Given the description of an element on the screen output the (x, y) to click on. 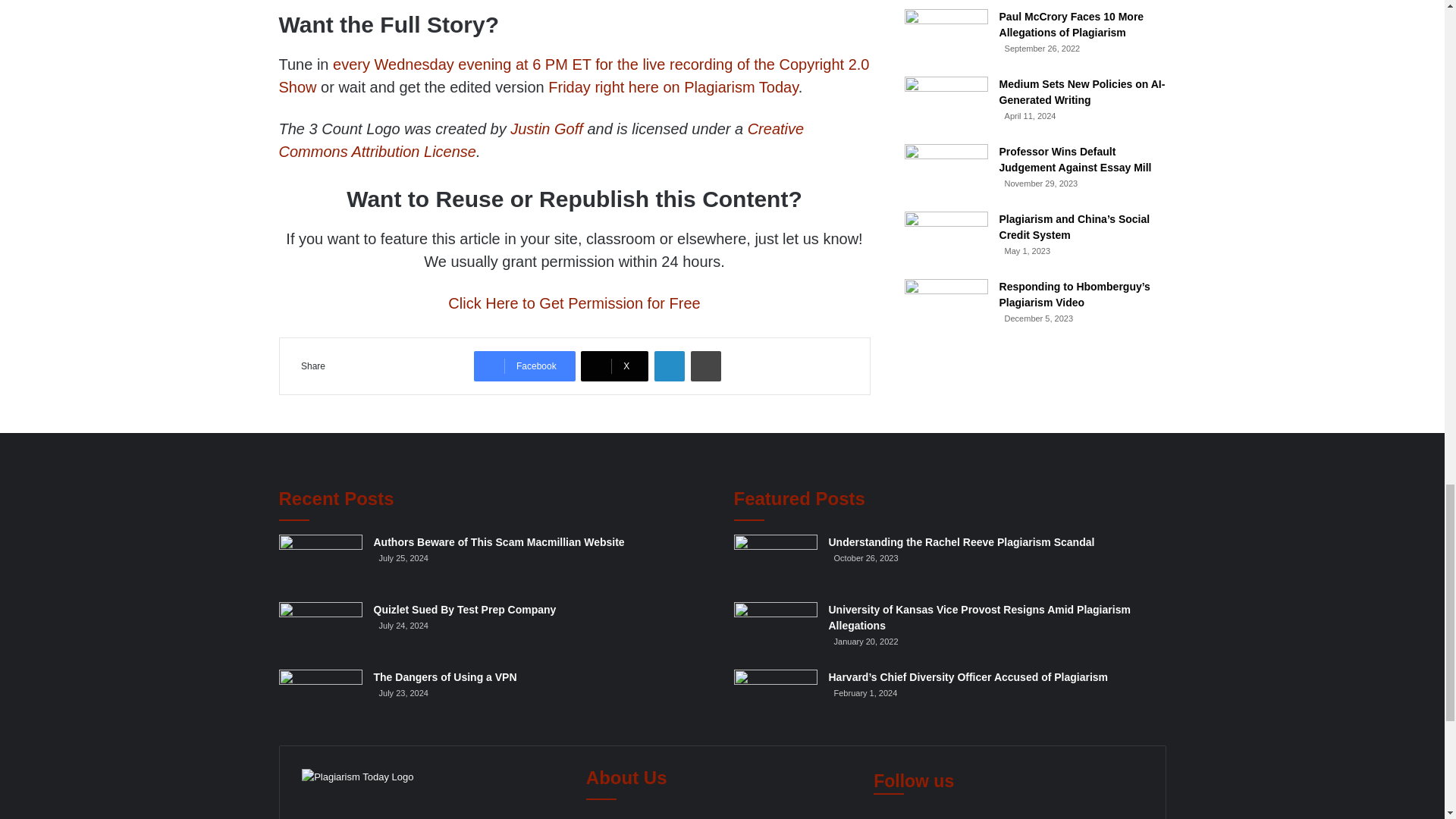
Creative Commons Attribution License (542, 139)
Facebook (524, 366)
Justin Goff (547, 128)
Friday right here on Plagiarism Today (672, 86)
X (613, 366)
Click Here to Get Permission for Free (574, 303)
LinkedIn (668, 366)
Facebook (524, 366)
X (613, 366)
LinkedIn (668, 366)
Print (705, 366)
